Given the description of an element on the screen output the (x, y) to click on. 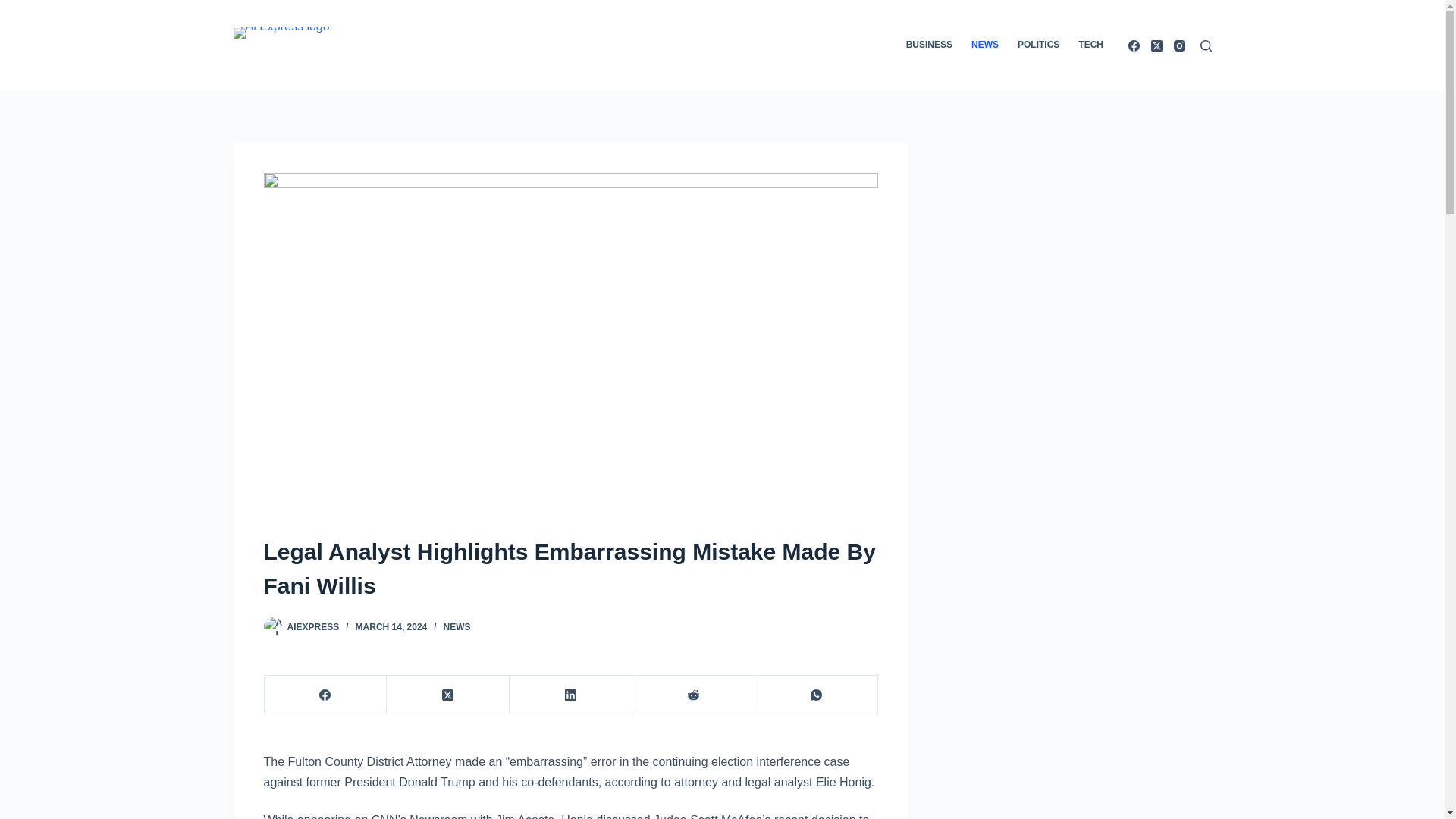
Skip to content (15, 7)
Posts by aiexpress (312, 626)
AIEXPRESS (312, 626)
NEWS (457, 626)
